Given the description of an element on the screen output the (x, y) to click on. 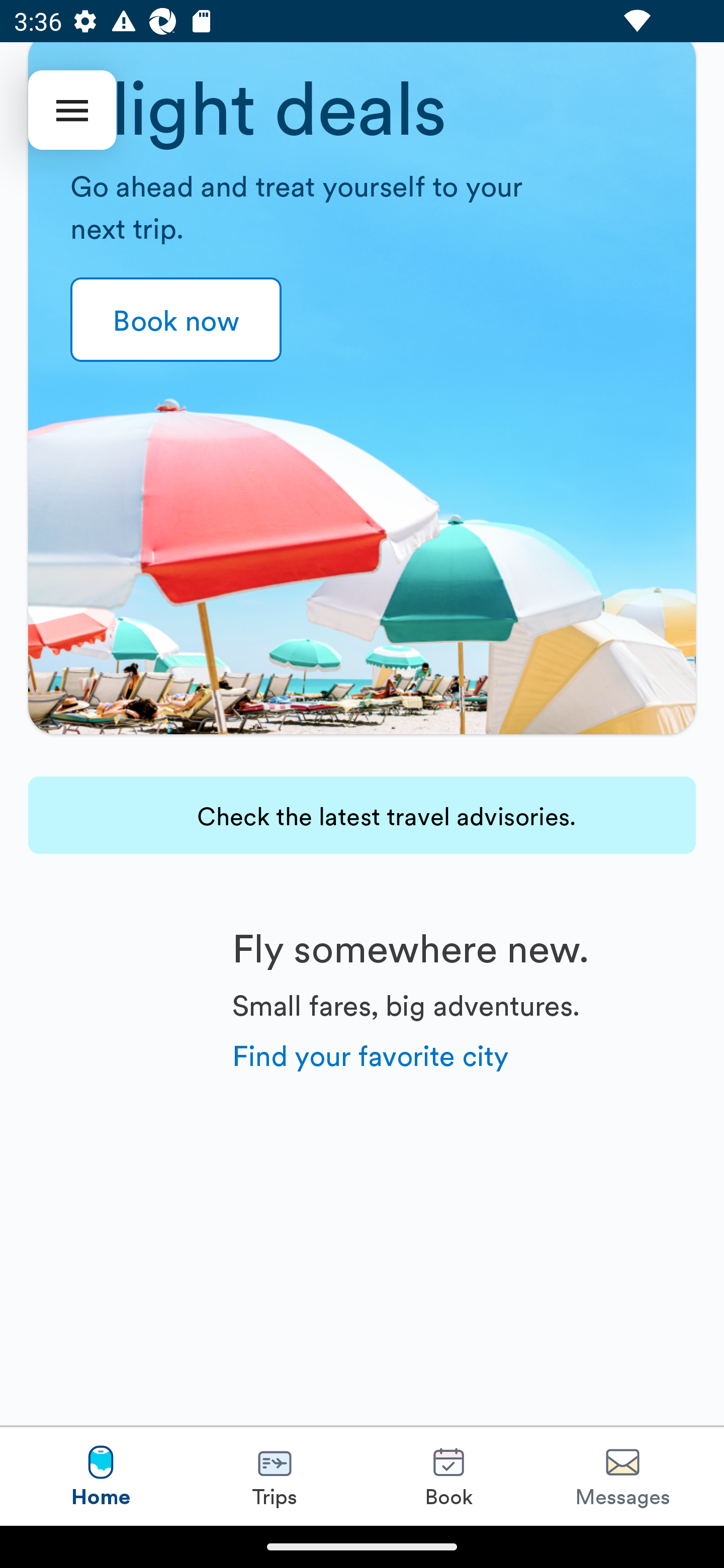
Book now (175, 319)
Check the latest travel advisories. (361, 815)
Find your favorite city (370, 1054)
Home (100, 1475)
Trips (275, 1475)
Book (448, 1475)
Messages (622, 1475)
